Given the description of an element on the screen output the (x, y) to click on. 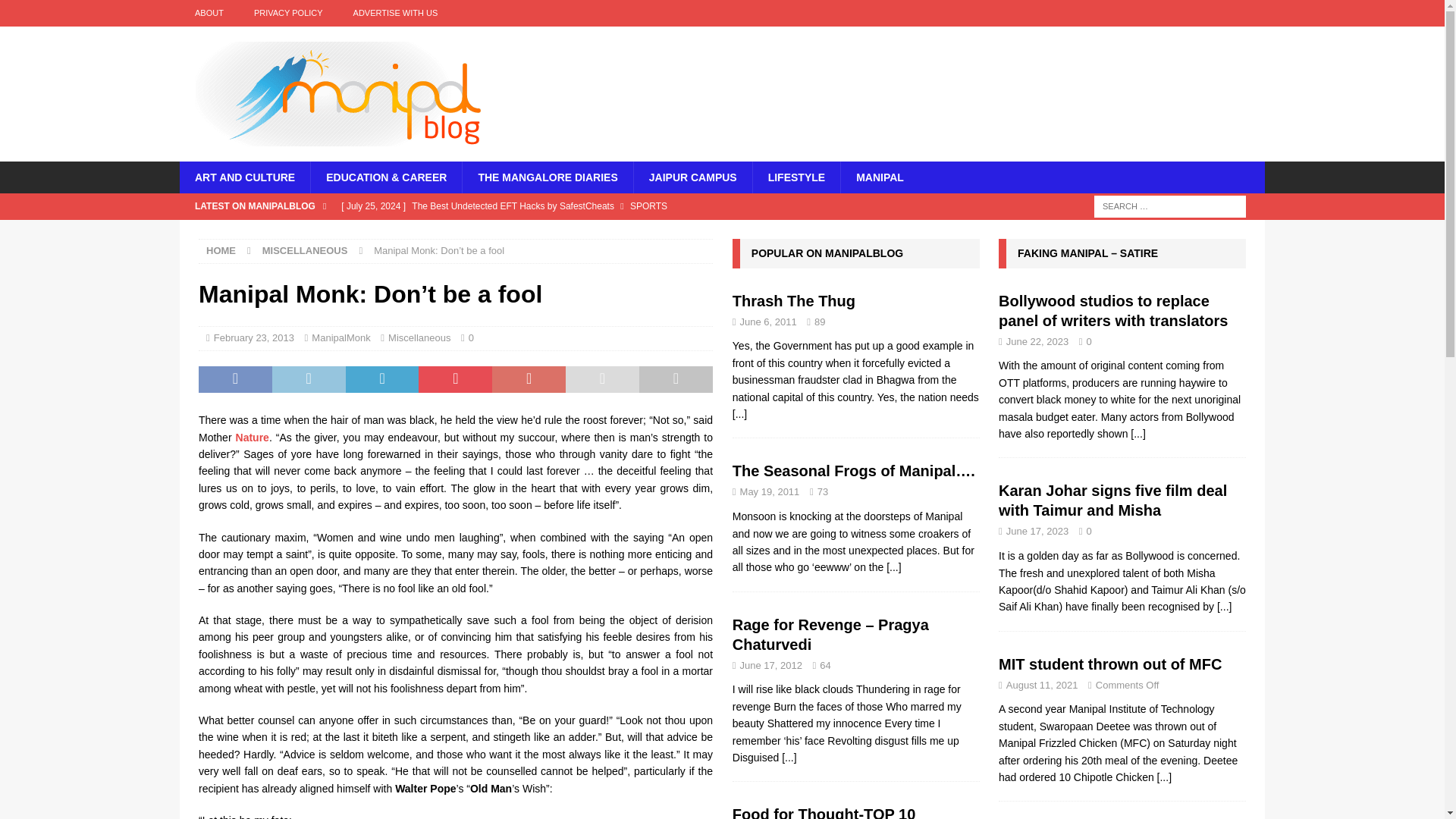
HOME (220, 250)
ADVERTISE WITH US (394, 13)
Types of Paithani Sarees: Understanding the Variations (609, 231)
Miscellaneous (418, 337)
MANIPAL (879, 177)
Search (56, 11)
PRIVACY POLICY (287, 13)
ManipalMonk (340, 337)
LIFESTYLE (796, 177)
THE MANGALORE DIARIES (546, 177)
